Given the description of an element on the screen output the (x, y) to click on. 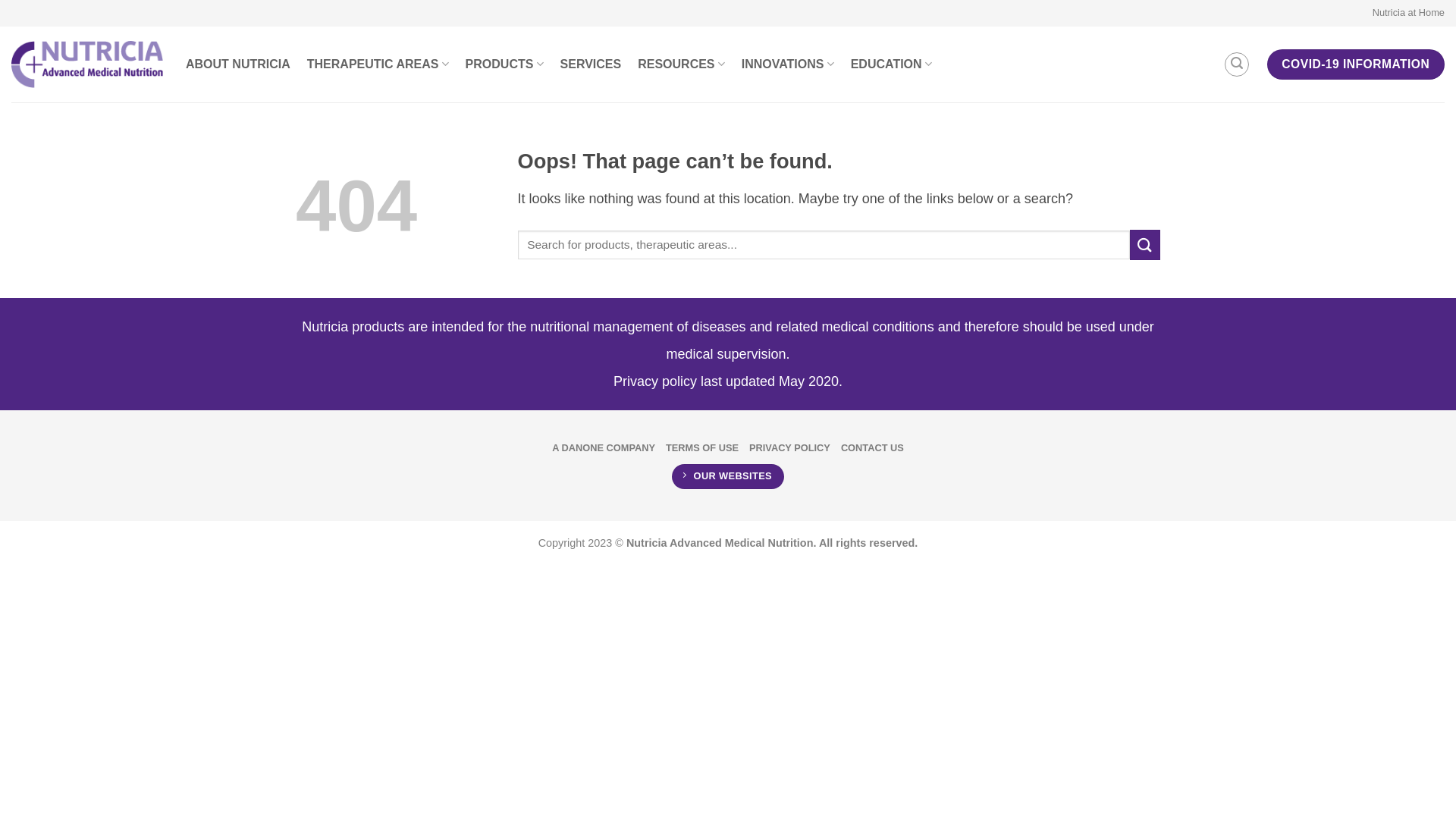
TERMS OF USE Element type: text (701, 448)
INNOVATIONS Element type: text (787, 63)
PRIVACY POLICY Element type: text (789, 448)
EDUCATION Element type: text (890, 63)
SERVICES Element type: text (590, 64)
CONTACT US Element type: text (871, 448)
__GLOBAL__ Nutricia Australia -  Element type: hover (87, 63)
PRODUCTS Element type: text (504, 63)
ABOUT NUTRICIA Element type: text (237, 64)
OUR WEBSITES Element type: text (727, 476)
Nutricia at Home Element type: text (1408, 12)
COVID-19 INFORMATION Element type: text (1355, 64)
A DANONE COMPANY Element type: text (603, 448)
RESOURCES Element type: text (680, 63)
THERAPEUTIC AREAS Element type: text (377, 63)
Privacy policy last updated May 2020. Element type: text (727, 381)
